Given the description of an element on the screen output the (x, y) to click on. 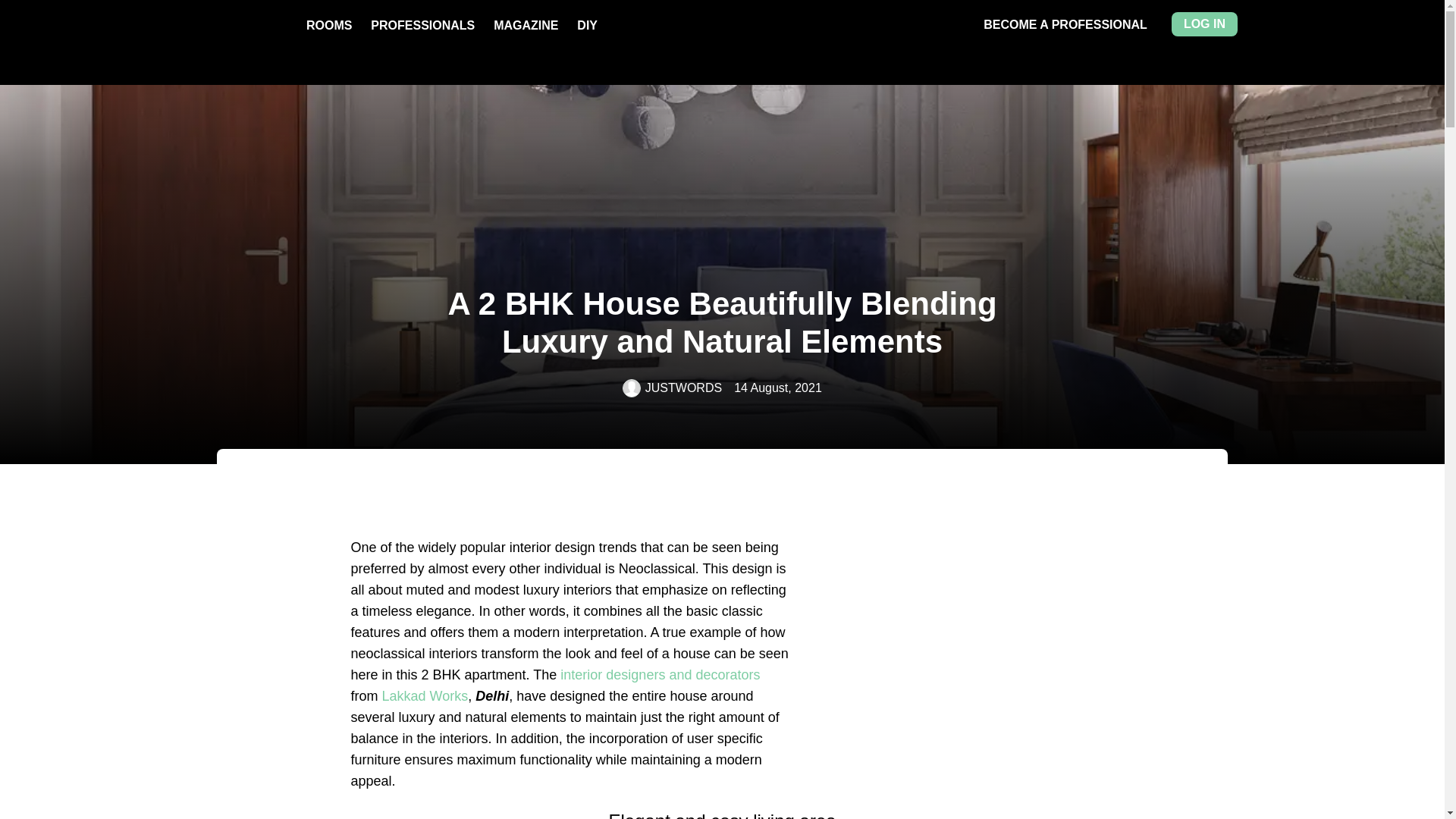
DIY (586, 25)
MAGAZINE (525, 25)
LOG IN (1204, 24)
PROFESSIONALS (422, 25)
ROOMS (328, 25)
JUSTWORDS (672, 388)
interior designers and decorators (660, 674)
BECOME A PROFESSIONAL (1064, 23)
Lakkad Works (424, 695)
